Given the description of an element on the screen output the (x, y) to click on. 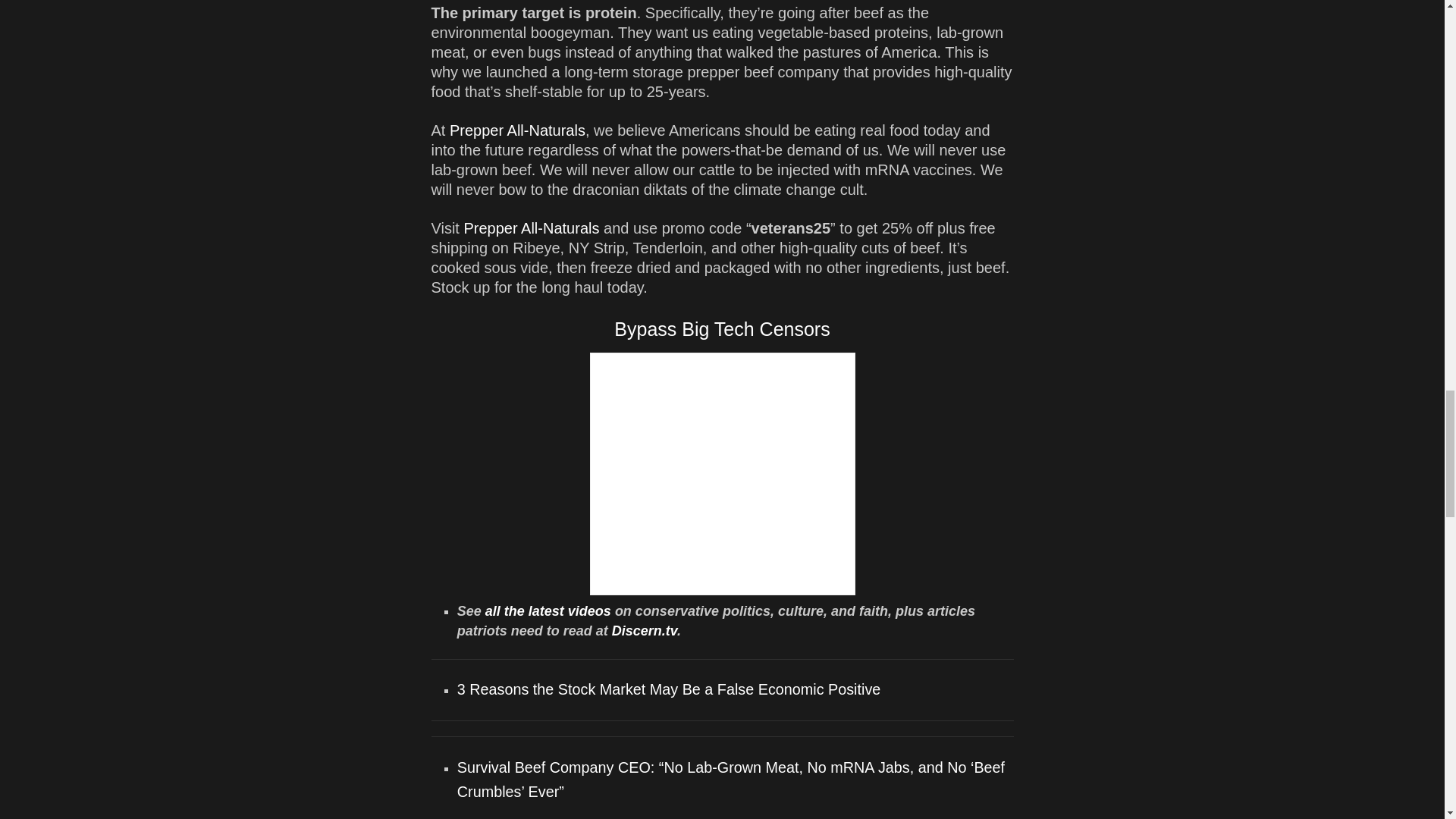
Prepper All-Naturals (517, 130)
3 Reasons the Stock Market May Be a False Economic Positive (668, 688)
Discern.tv (644, 630)
Prepper All-Naturals (530, 228)
all the latest videos (547, 611)
